Given the description of an element on the screen output the (x, y) to click on. 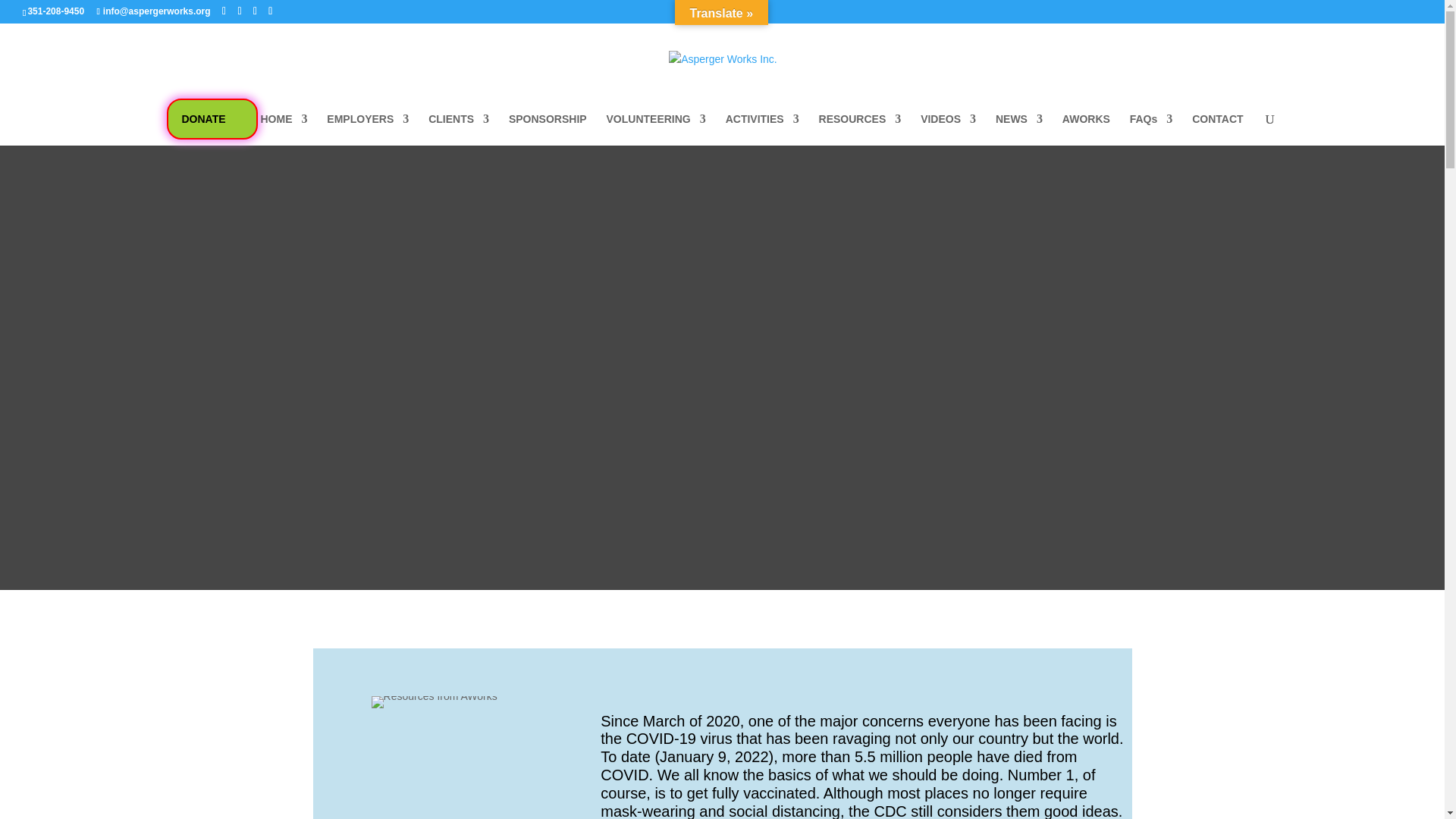
SPONSORSHIP (547, 129)
Home (283, 129)
VOLUNTEERING (656, 129)
Make a Difference (204, 118)
HOME (283, 129)
Client Services (458, 129)
Employer Resources (367, 129)
EMPLOYERS (367, 129)
DONATE (204, 118)
CLIENTS (458, 129)
